Given the description of an element on the screen output the (x, y) to click on. 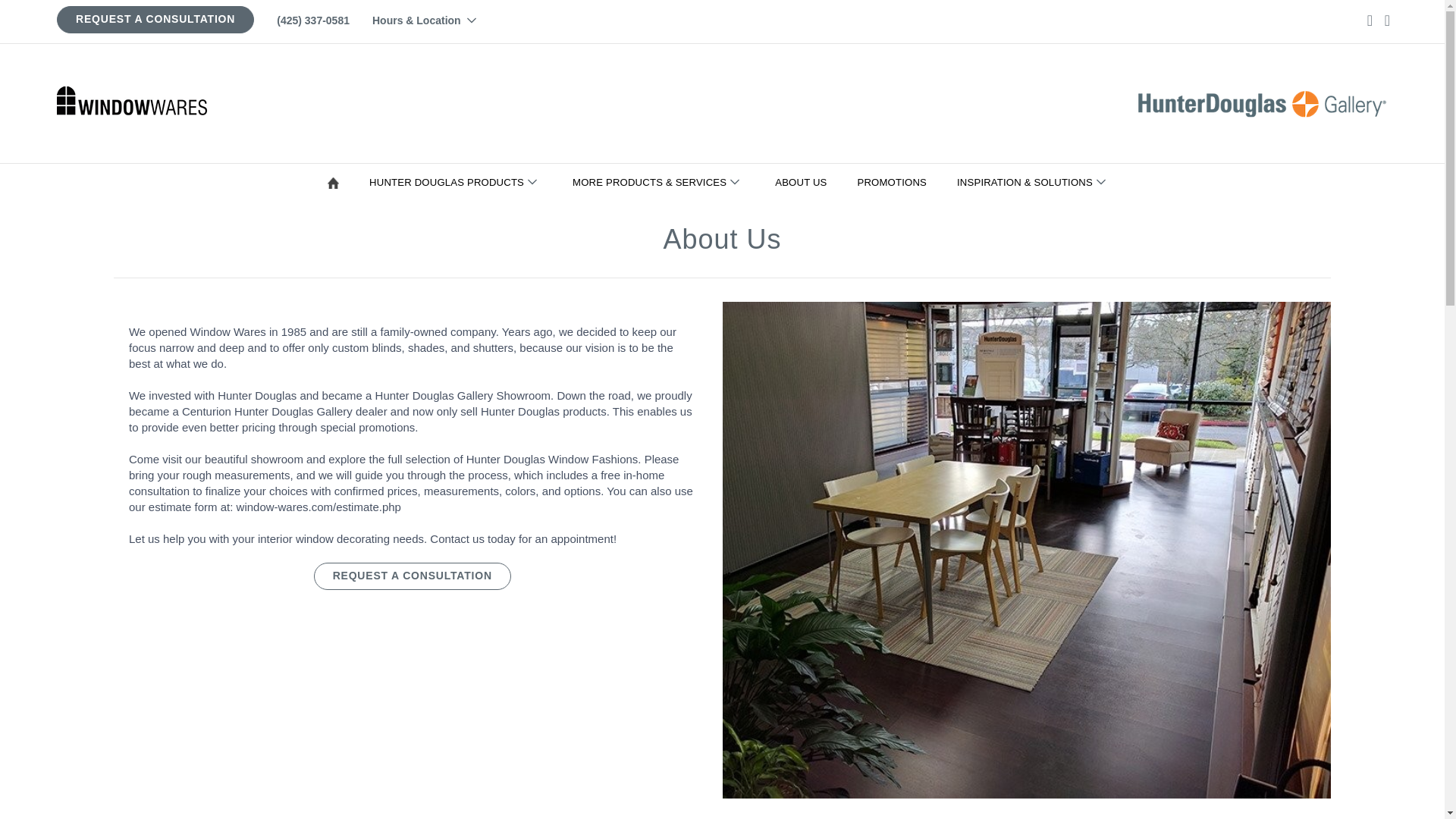
PROMOTIONS (894, 182)
HUNTER DOUGLAS PRODUCTS (458, 182)
REQUEST A CONSULTATION (155, 18)
ABOUT US (803, 182)
